Given the description of an element on the screen output the (x, y) to click on. 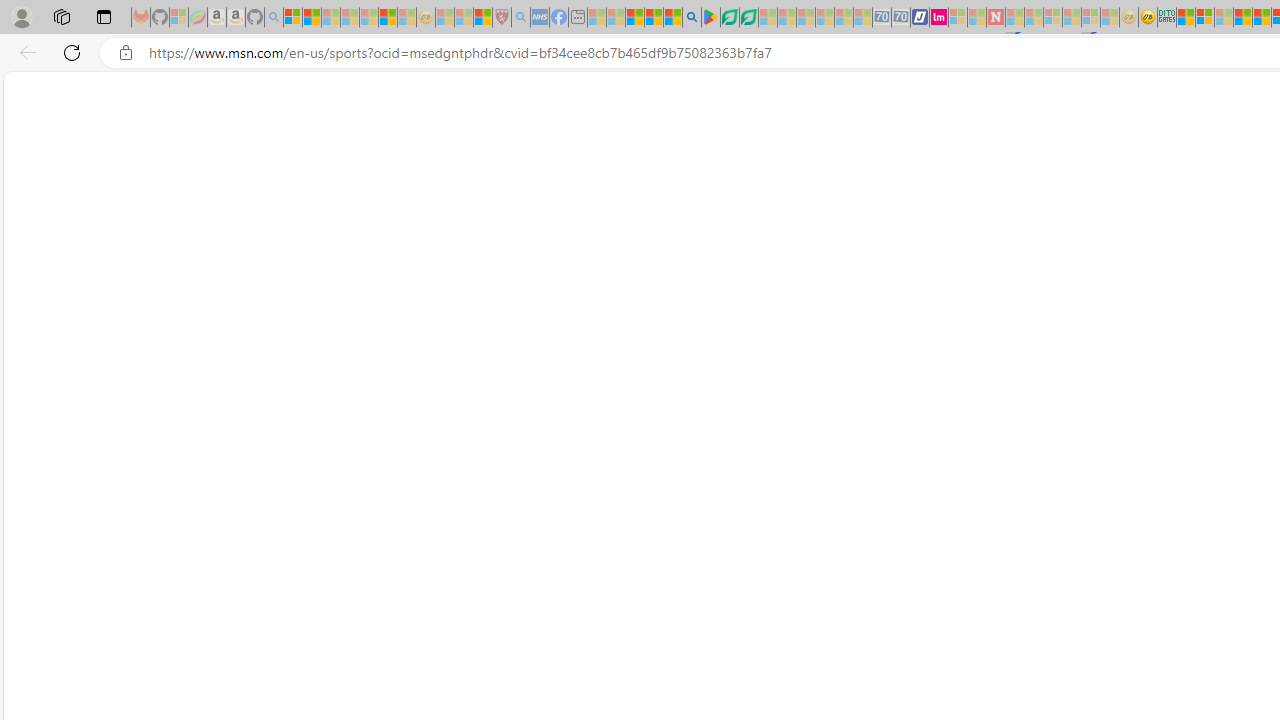
Bluey: Let's Play! - Apps on Google Play (710, 17)
Expert Portfolios (1242, 17)
Jobs - lastminute.com Investor Portal (939, 17)
Microsoft Word - consumer-privacy address update 2.2021 (748, 17)
